Given the description of an element on the screen output the (x, y) to click on. 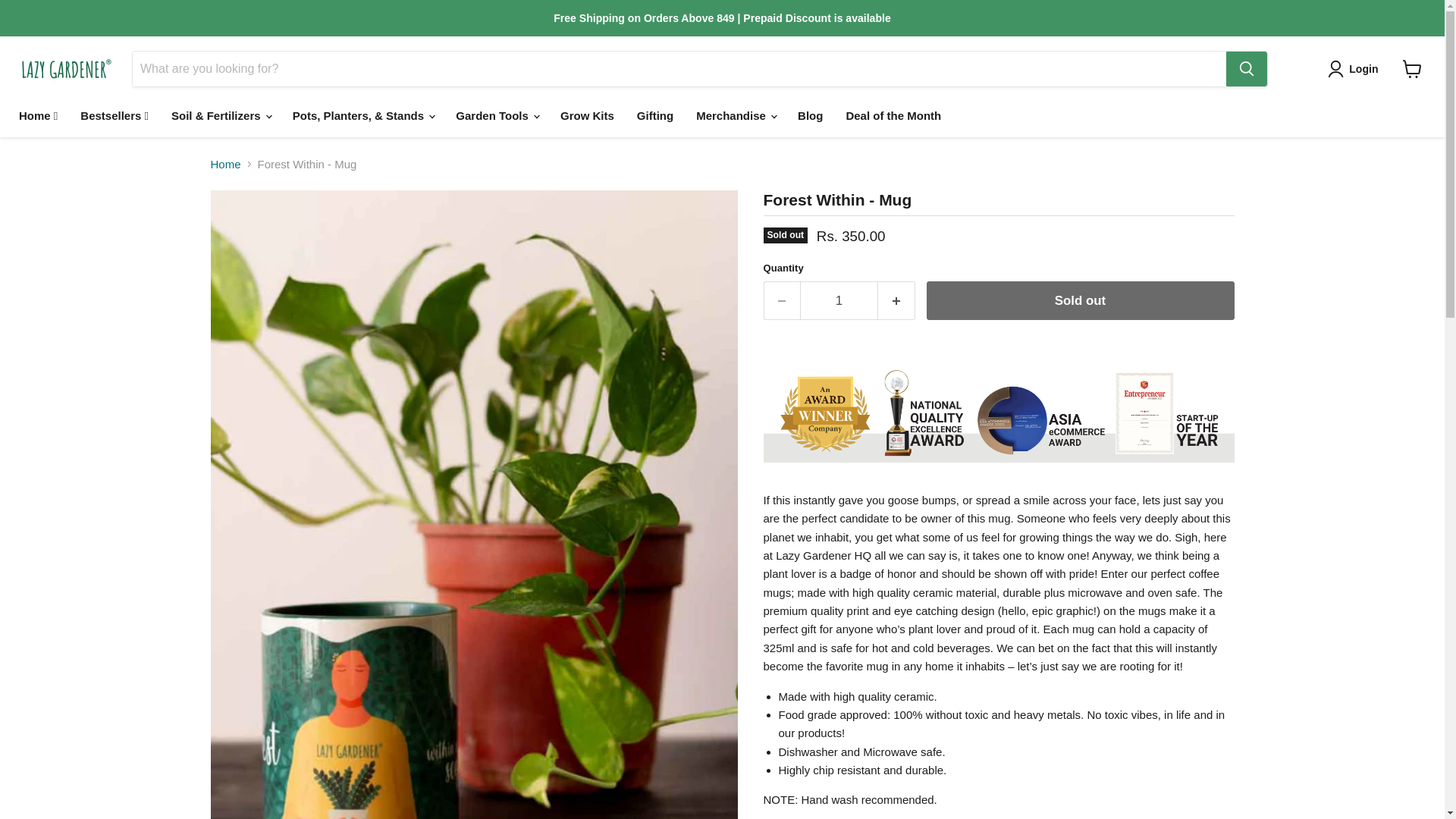
Gifting (655, 115)
Login (1355, 68)
Grow Kits (587, 115)
1 (838, 300)
View cart (1411, 68)
